Given the description of an element on the screen output the (x, y) to click on. 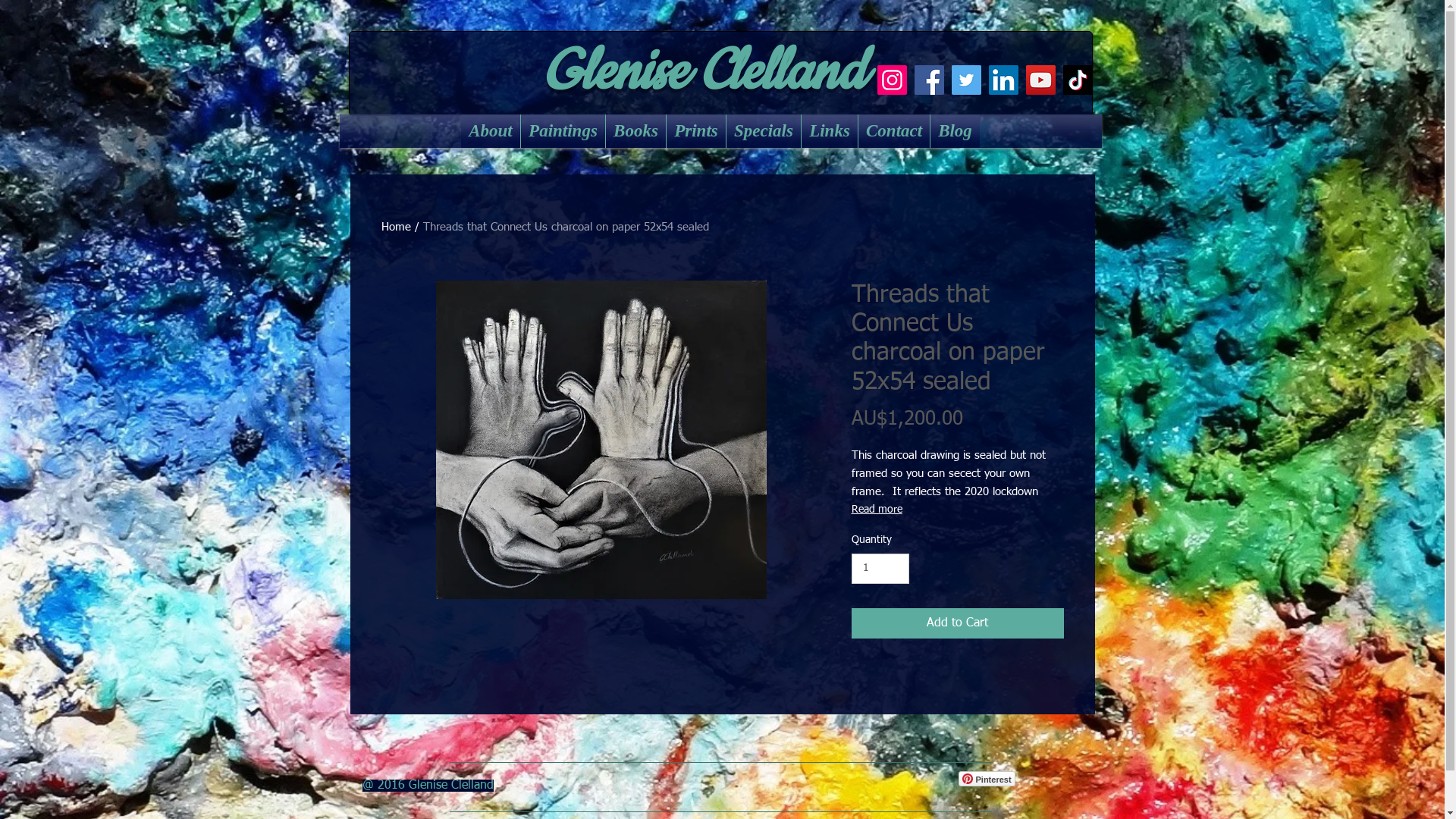
Pinterest Element type: text (986, 778)
Add to Cart Element type: text (956, 623)
Paintings Element type: text (562, 130)
Contact Element type: text (893, 130)
Read more Element type: text (956, 509)
About Element type: text (490, 130)
Prints Element type: text (695, 130)
Twitter Tweet Element type: hover (1052, 778)
Links Element type: text (829, 130)
Books Element type: text (635, 130)
Threads that Connect Us charcoal on paper 52x54 sealed Element type: text (566, 226)
Specials Element type: text (763, 130)
Home Element type: text (395, 226)
Blog Element type: text (954, 130)
